Given the description of an element on the screen output the (x, y) to click on. 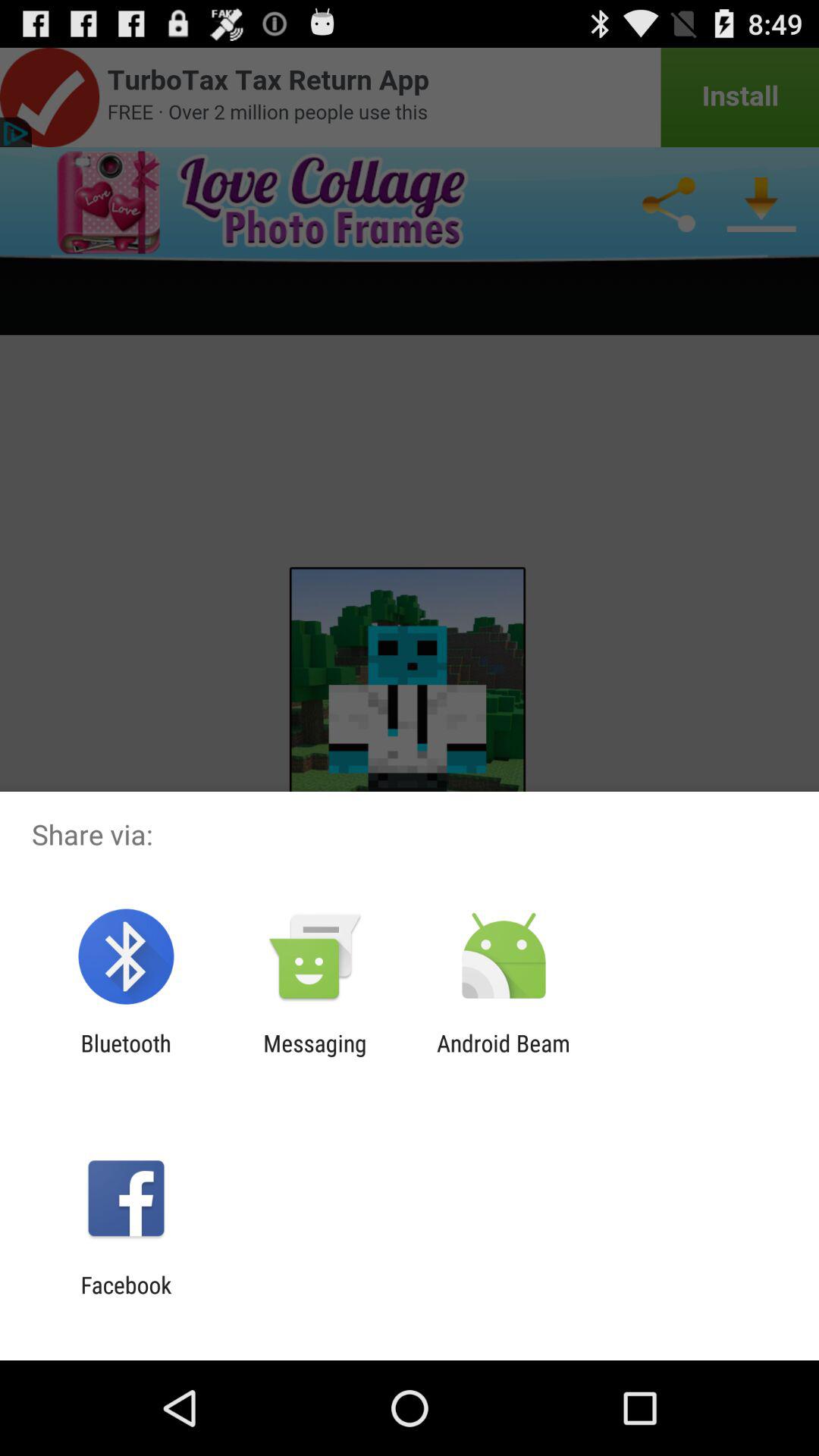
scroll until the messaging app (314, 1056)
